Given the description of an element on the screen output the (x, y) to click on. 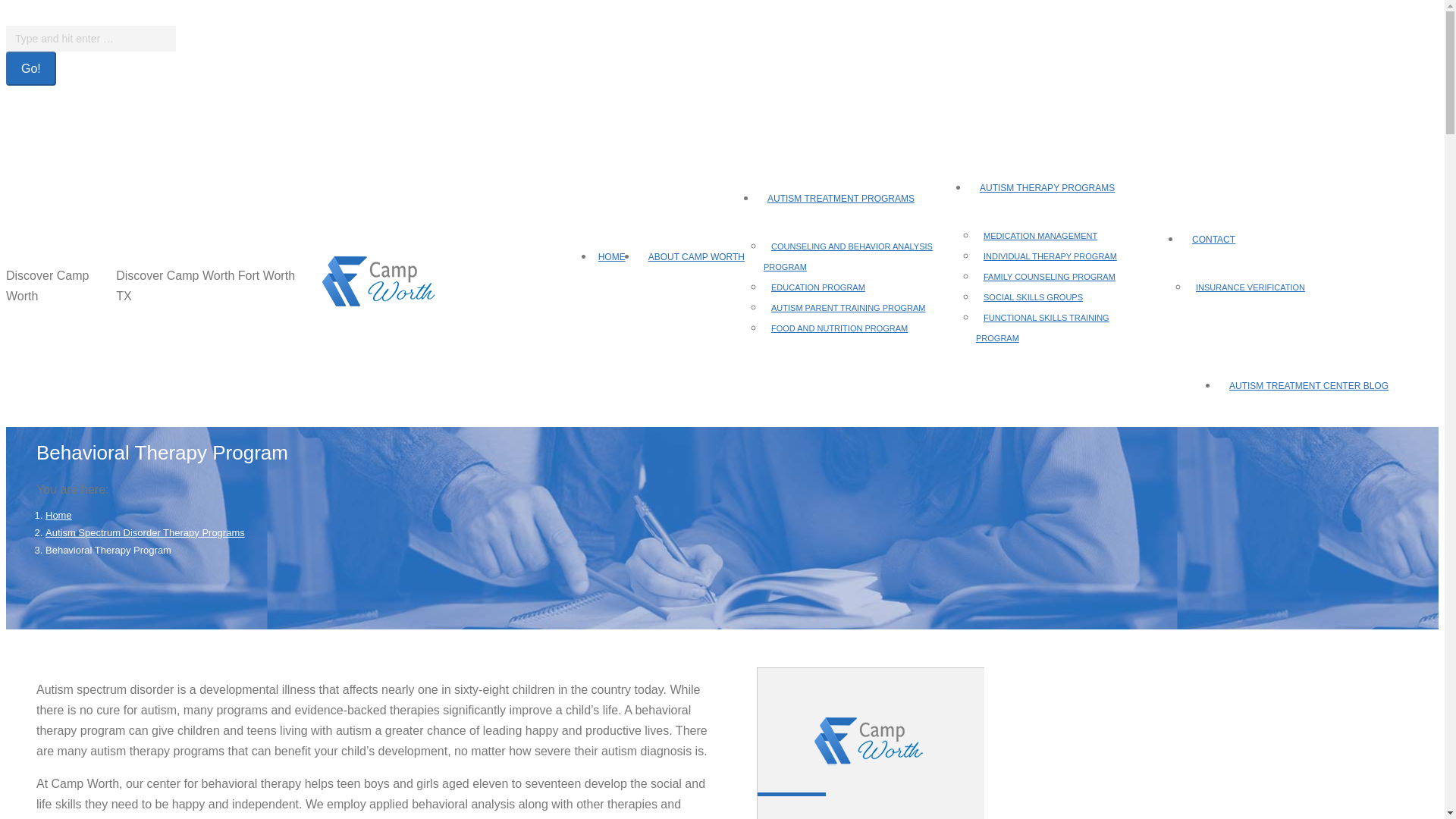
FOOD AND NUTRITION PROGRAM (846, 326)
Go! (30, 68)
Go! (30, 68)
FUNCTIONAL SKILLS TRAINING PROGRAM (1042, 326)
Search form (90, 38)
SOCIAL SKILLS GROUPS (1040, 295)
Camp Worth Sidebar 3 (870, 741)
COUNSELING AND BEHAVIOR ANALYSIS PROGRAM (847, 255)
EDUCATION PROGRAM (825, 285)
INDIVIDUAL THERAPY PROGRAM (1057, 254)
AUTISM TREATMENT CENTER BLOG (1308, 384)
Go! (30, 68)
AUTISM TREATMENT PROGRAMS (861, 196)
AUTISM PARENT TRAINING PROGRAM (855, 305)
